Given the description of an element on the screen output the (x, y) to click on. 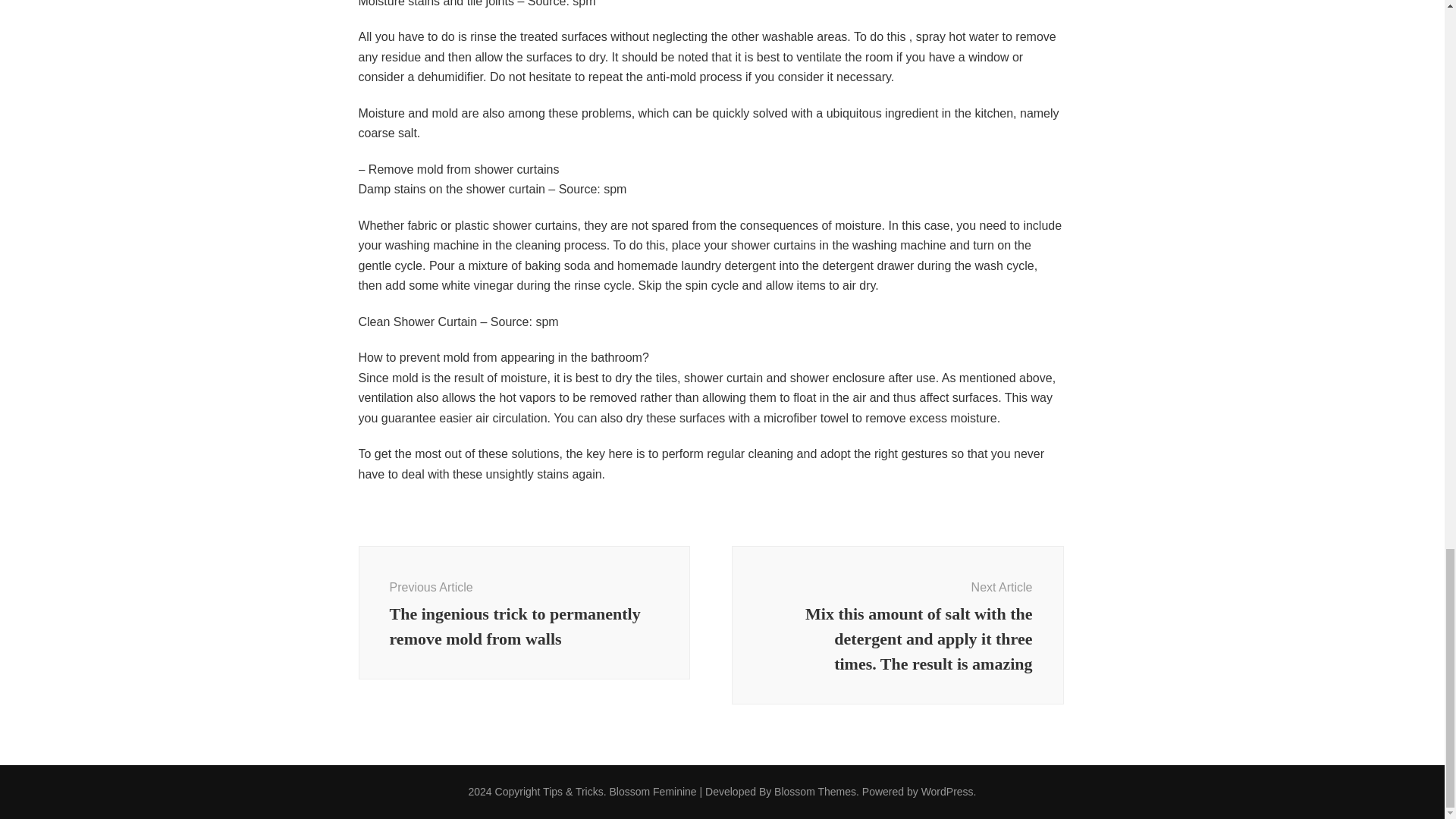
WordPress (947, 791)
Blossom Themes (815, 791)
